Given the description of an element on the screen output the (x, y) to click on. 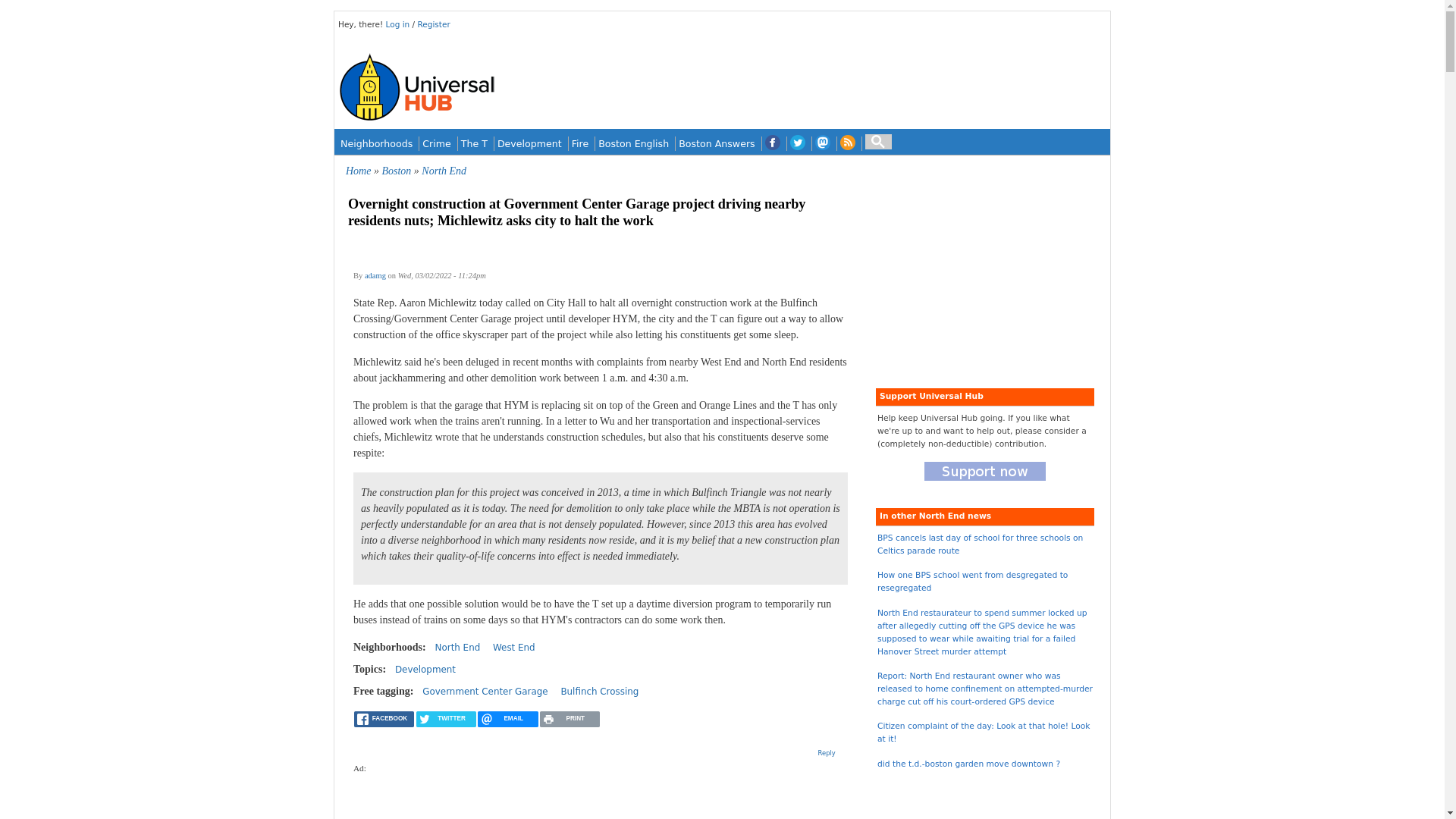
North End (443, 170)
Latest news on new development in Boston (529, 143)
Boston (395, 170)
The T (474, 143)
Wicked Good Guide to Boston English (633, 143)
Universal Hub RSS feed (848, 143)
Universal Hub on Twitter (797, 143)
Crime (436, 143)
View user profile. (375, 275)
Share your thoughts and opinions related to this posting. (826, 752)
Fire (580, 143)
Universal Hub on Mastodon (822, 143)
PRINT (569, 719)
Universal Hub on Facebook (772, 143)
